Given the description of an element on the screen output the (x, y) to click on. 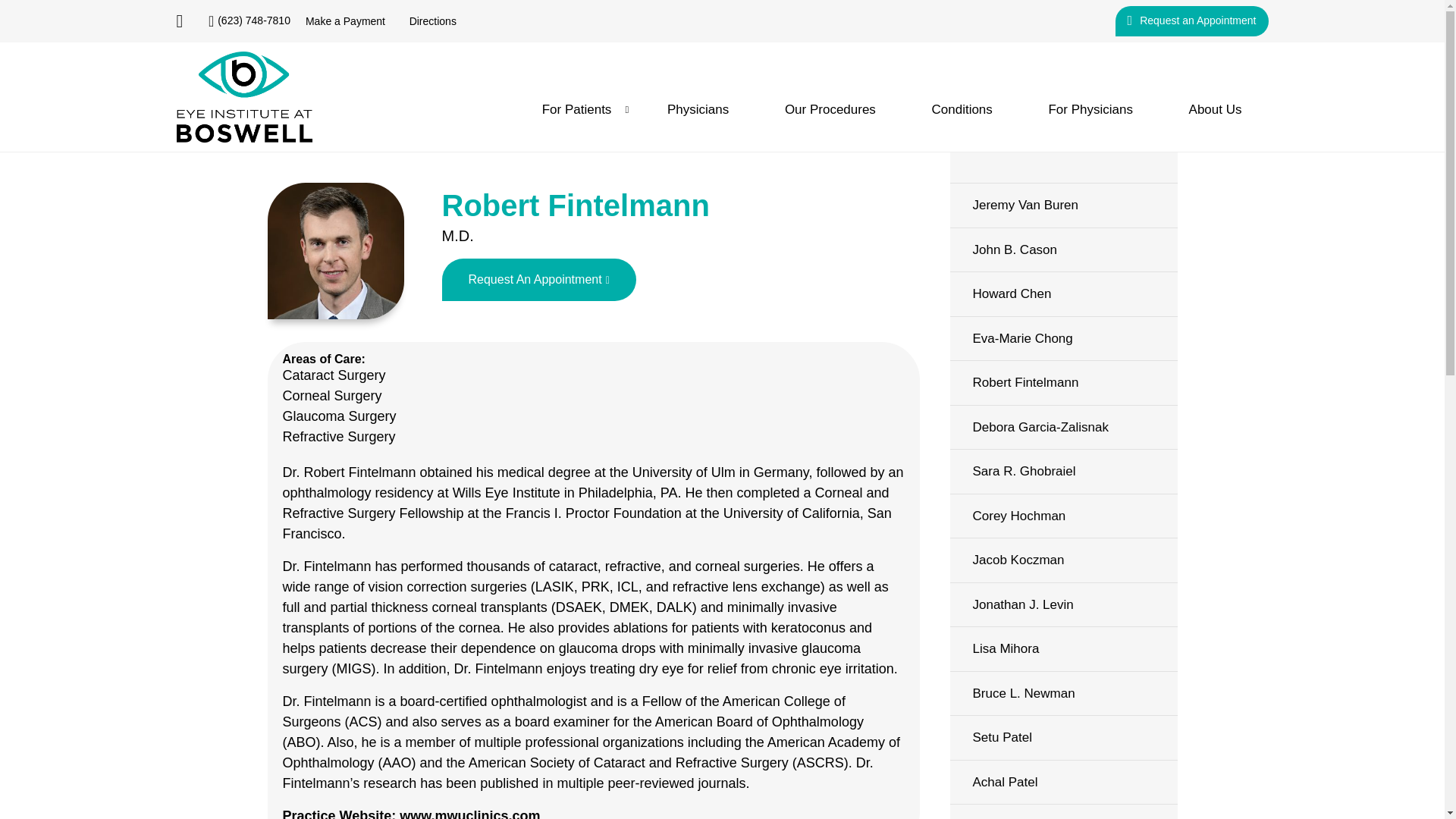
Our Procedures (830, 109)
About Us (1215, 109)
Eye Institute at Boswell (244, 96)
For Patients (576, 109)
Conditions (961, 109)
Jeremy Van Buren (1062, 204)
Physicians (697, 109)
www.mwuclinics.com (469, 813)
For Physicians (1090, 109)
Request an Appointment (1191, 20)
Make a Payment (345, 21)
Directions (433, 21)
Request An Appointment (537, 279)
